Given the description of an element on the screen output the (x, y) to click on. 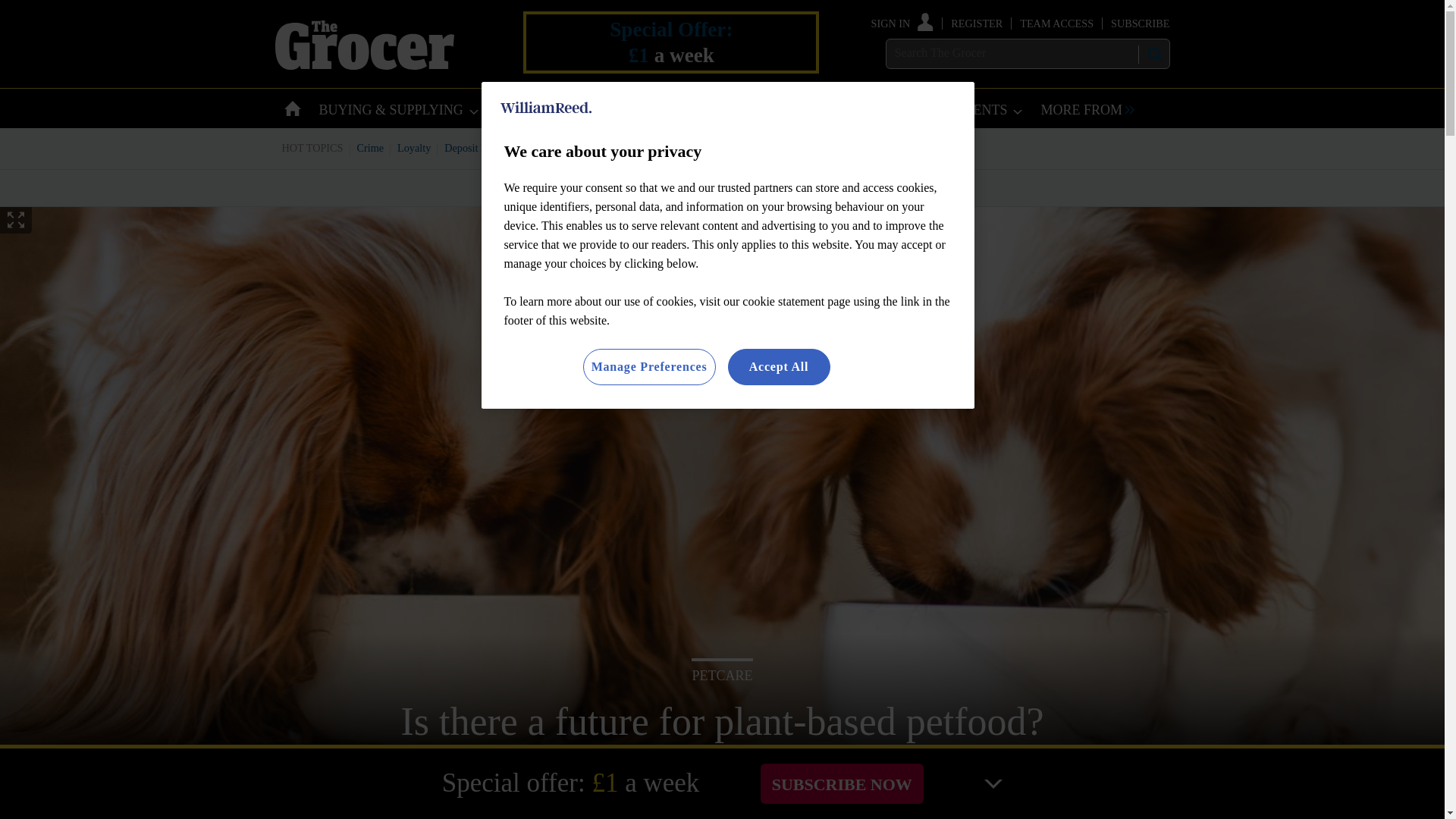
TEAM ACCESS (1056, 23)
Cost of Living Crisis (699, 147)
SUBSCRIBE NOW (841, 783)
SIGN IN (902, 23)
Loyalty (414, 147)
SEARCH (1153, 53)
Site name (363, 65)
Vaping (774, 147)
Deposit Return Schemes (497, 147)
Crime (370, 147)
